Given the description of an element on the screen output the (x, y) to click on. 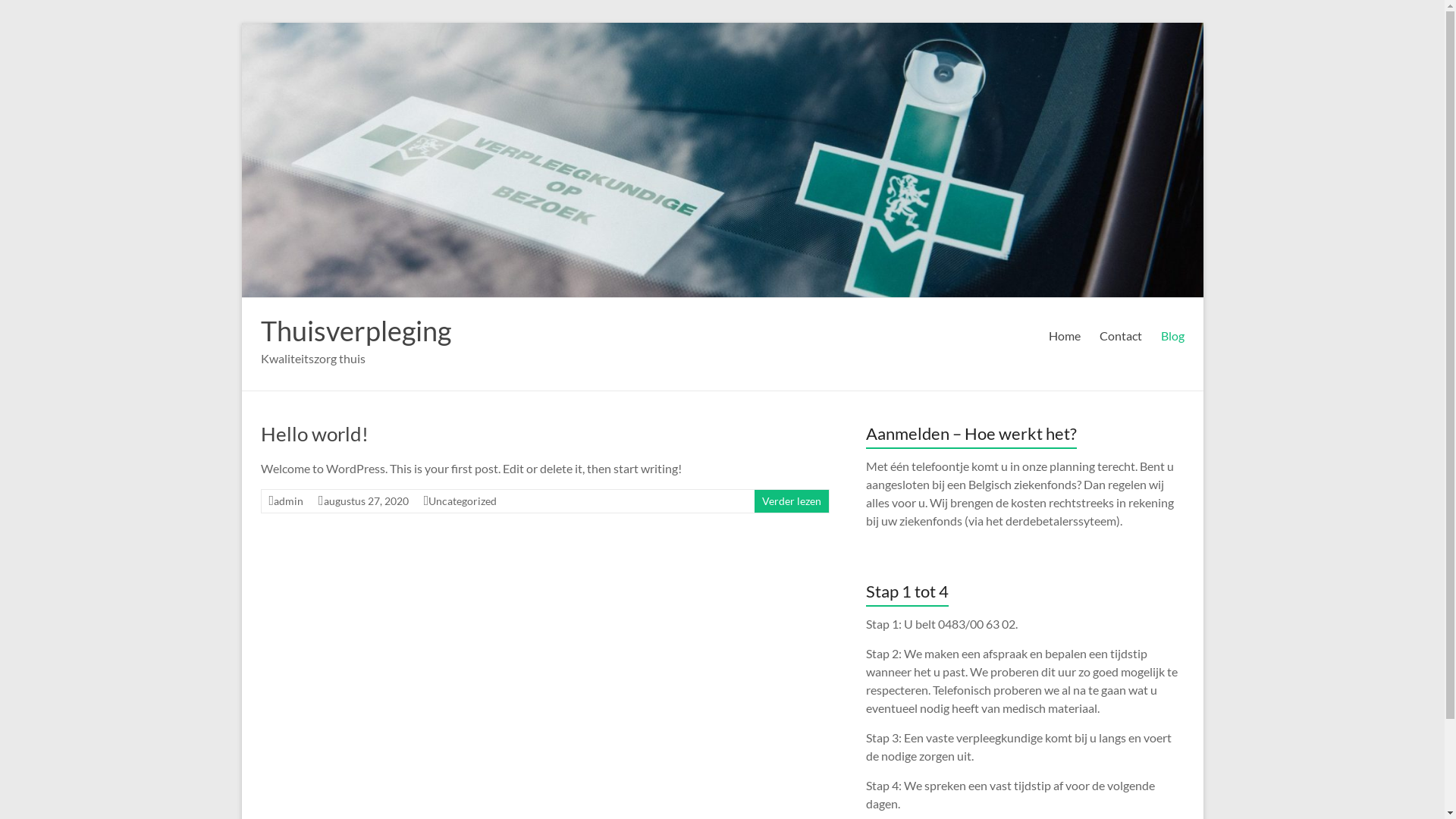
Verder lezen Element type: text (790, 500)
Home Element type: text (1063, 335)
Thuisverpleging Element type: text (355, 330)
Contact Element type: text (1120, 335)
Uncategorized Element type: text (462, 500)
admin Element type: text (288, 500)
Hello world! Element type: text (314, 433)
Blog Element type: text (1171, 335)
augustus 27, 2020 Element type: text (365, 500)
Ga naar inhoud Element type: text (241, 21)
